Given the description of an element on the screen output the (x, y) to click on. 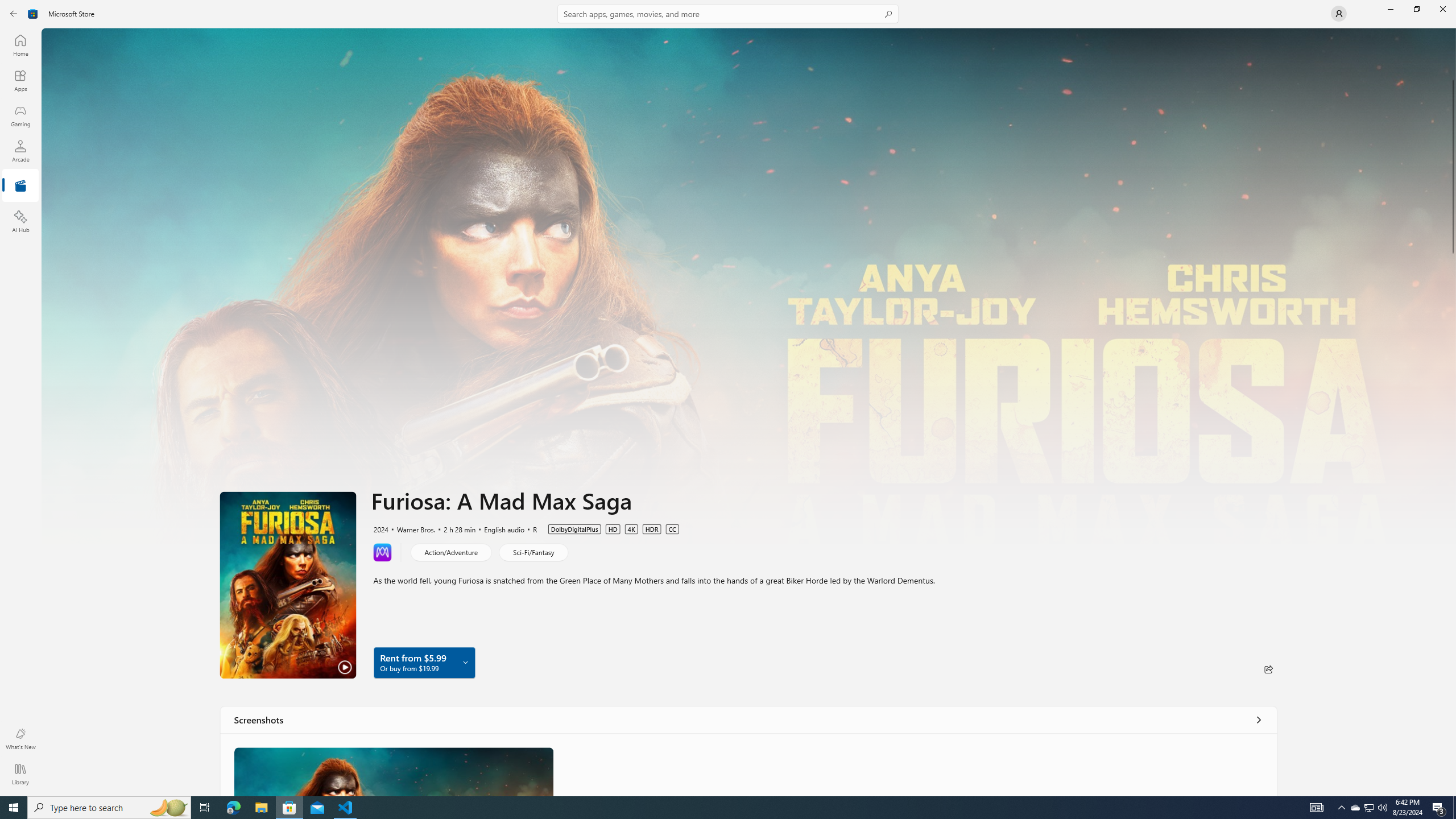
Share (1267, 669)
Vertical (1452, 412)
Vertical Large Decrease (1452, 56)
Rent from $5.99 Or buy from $19.99 (424, 662)
Search (727, 13)
Action/Adventure (451, 551)
Warner Bros. (410, 528)
Vertical Large Increase (1452, 521)
